Given the description of an element on the screen output the (x, y) to click on. 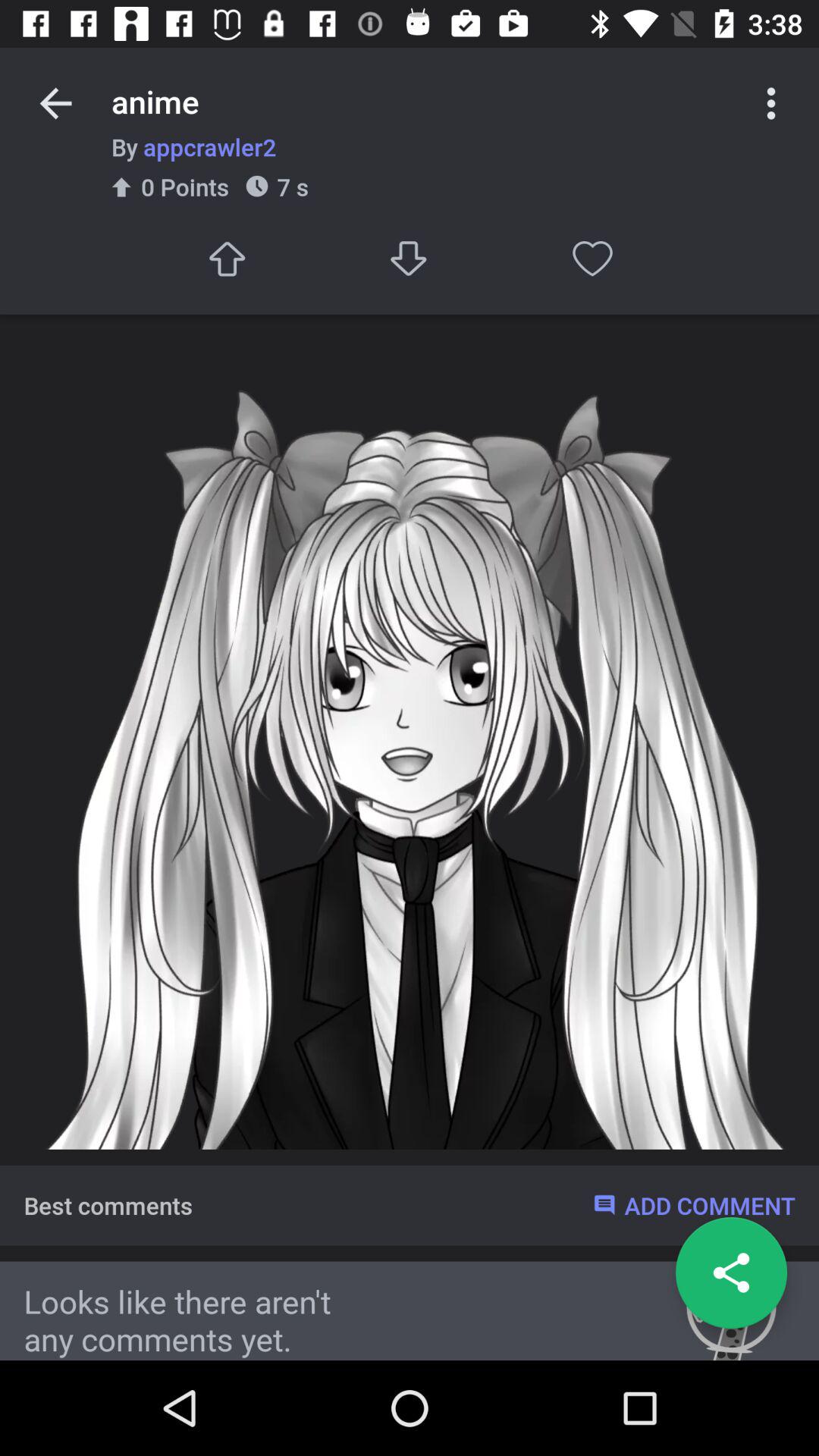
click to download (409, 258)
